Given the description of an element on the screen output the (x, y) to click on. 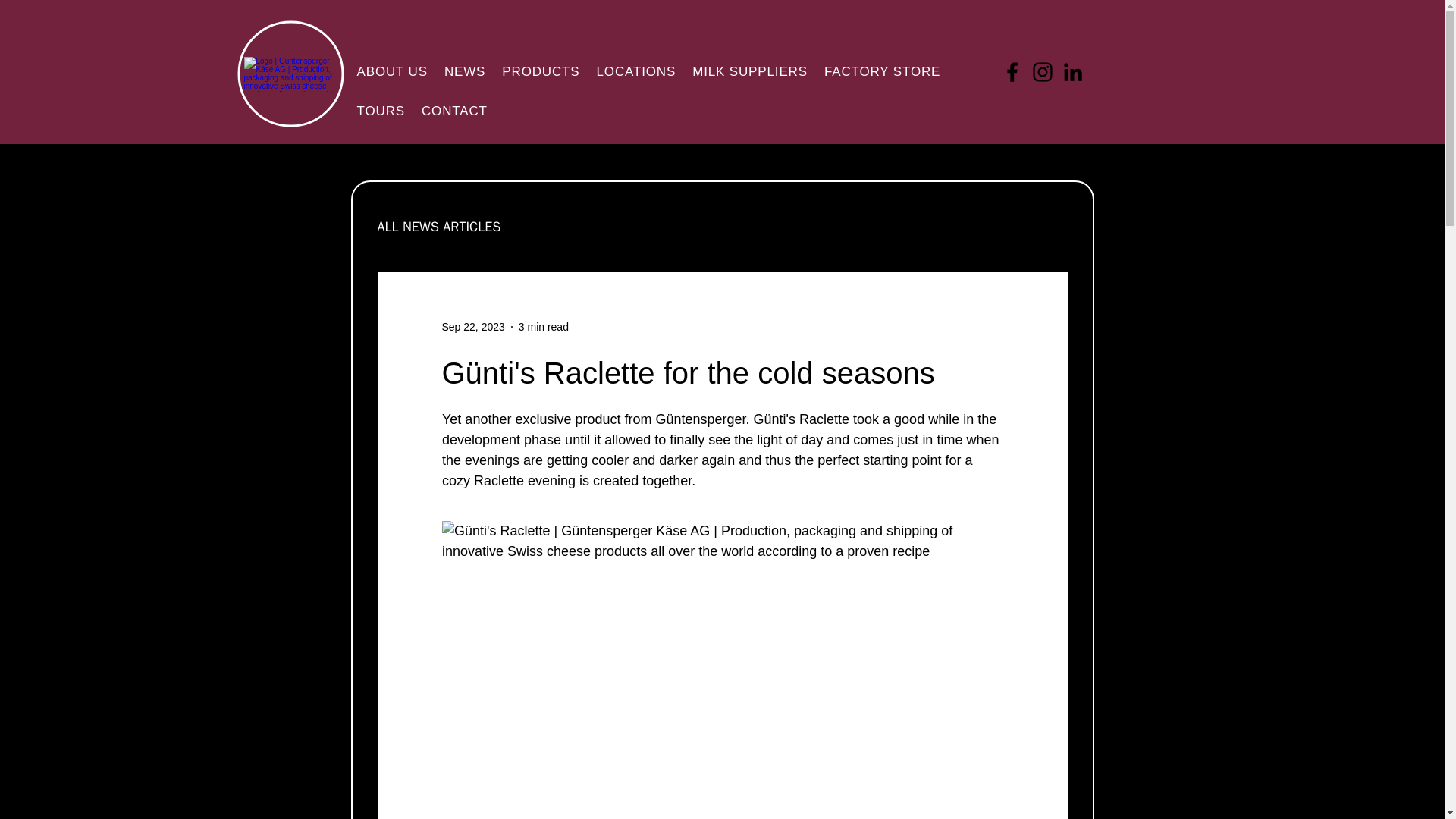
NEWS (464, 71)
LOCATIONS (636, 71)
MILK SUPPLIERS (749, 71)
Sep 22, 2023 (472, 326)
ALL NEWS ARTICLES (438, 226)
CONTACT (454, 111)
FACTORY STORE (881, 71)
TOURS (380, 111)
3 min read (543, 326)
PRODUCTS (540, 71)
